Given the description of an element on the screen output the (x, y) to click on. 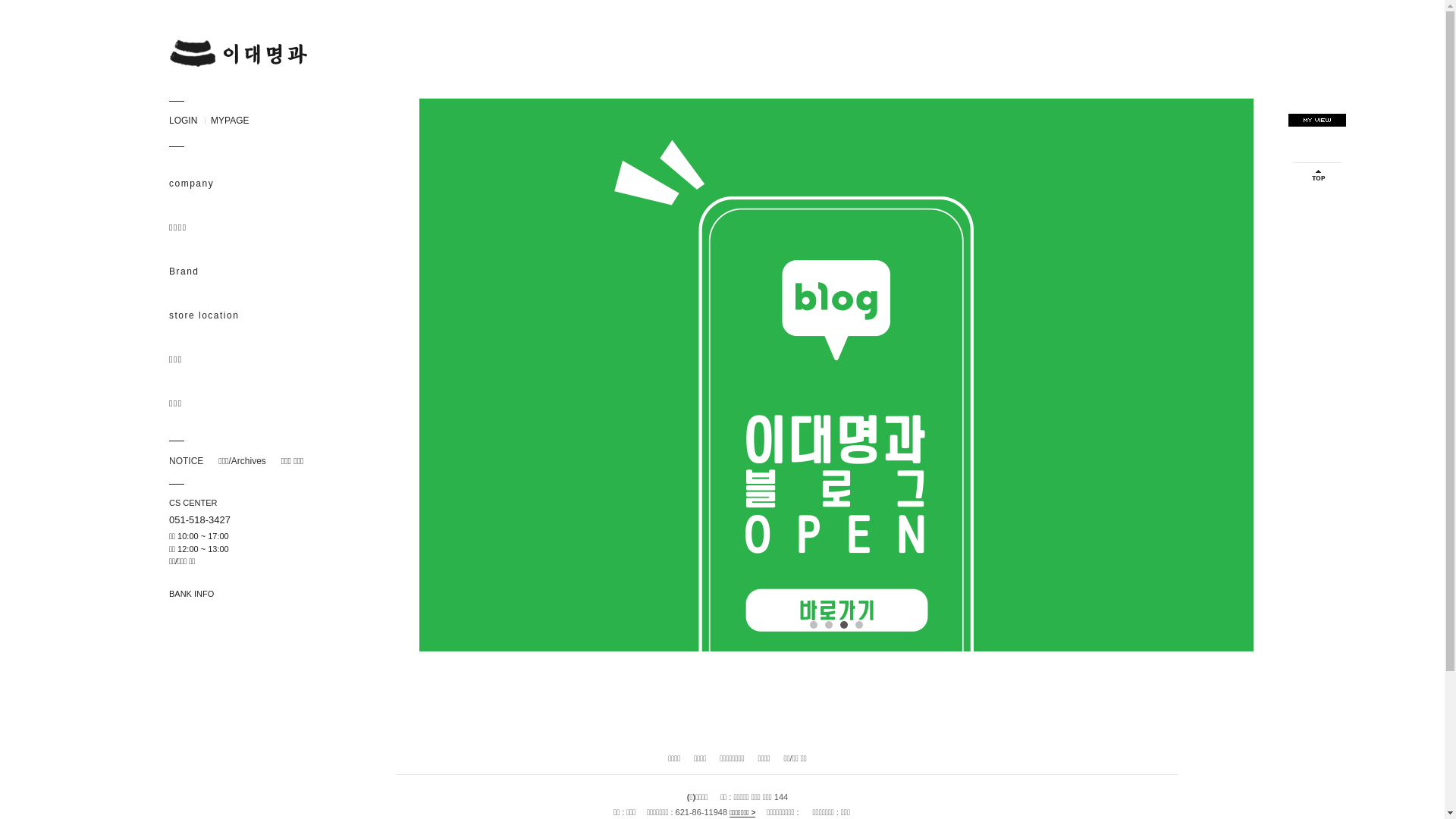
1 Element type: text (813, 624)
Brand Element type: text (252, 271)
  MYPAGE Element type: text (226, 120)
2 Element type: text (828, 624)
4 Element type: text (858, 624)
NOTICE Element type: text (185, 460)
3 Element type: text (843, 624)
LOGIN Element type: text (182, 120)
store location Element type: text (252, 315)
company Element type: text (252, 183)
